Given the description of an element on the screen output the (x, y) to click on. 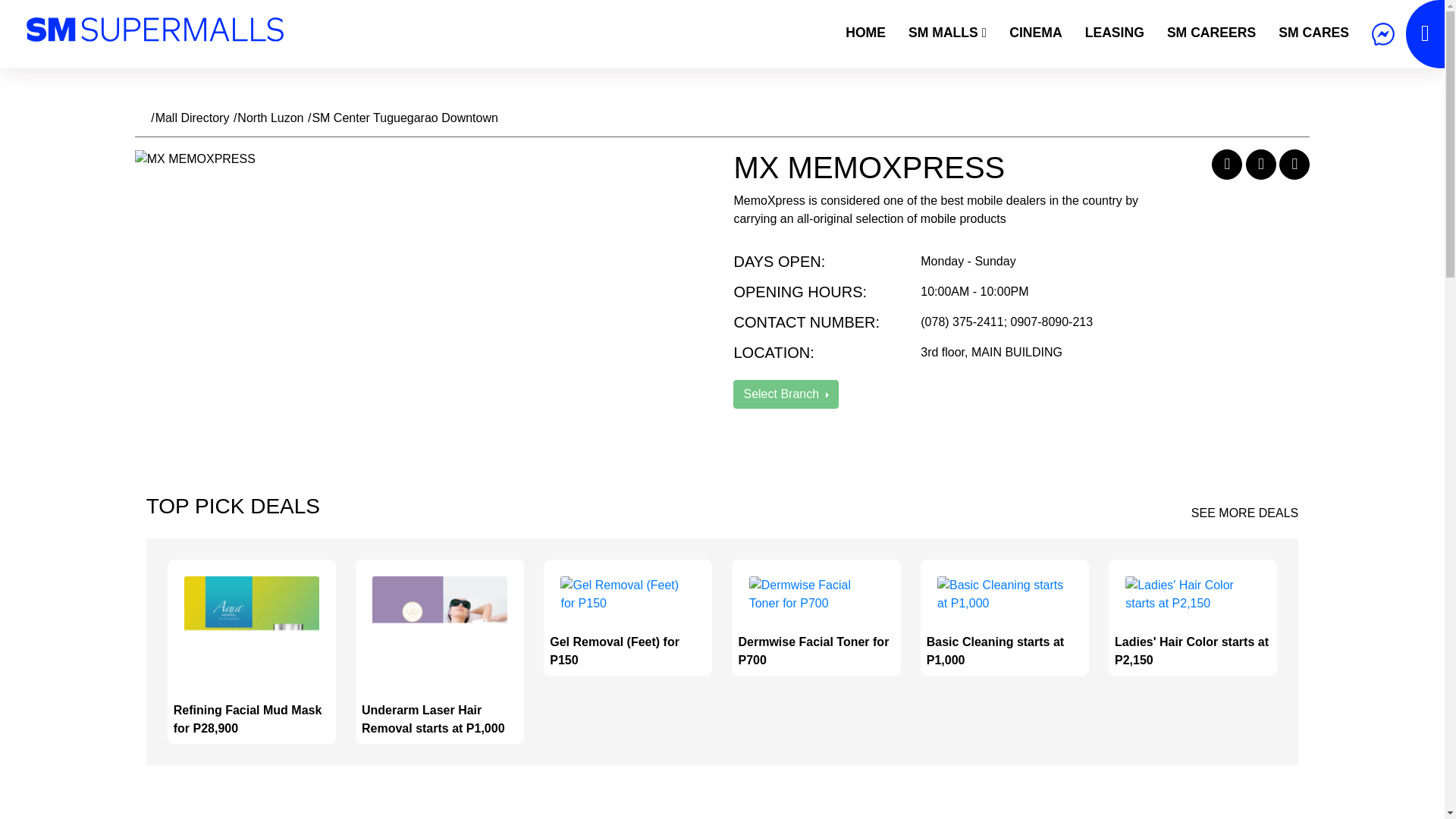
SM CAREERS (1211, 32)
SM MALLS (946, 32)
North Luzon (269, 117)
LEASING (1115, 32)
Mall Directory (192, 117)
Select Branch (785, 394)
HOME (865, 32)
CINEMA (1035, 32)
SM Center Tuguegarao Downtown (404, 117)
SM CARES (1312, 32)
